Given the description of an element on the screen output the (x, y) to click on. 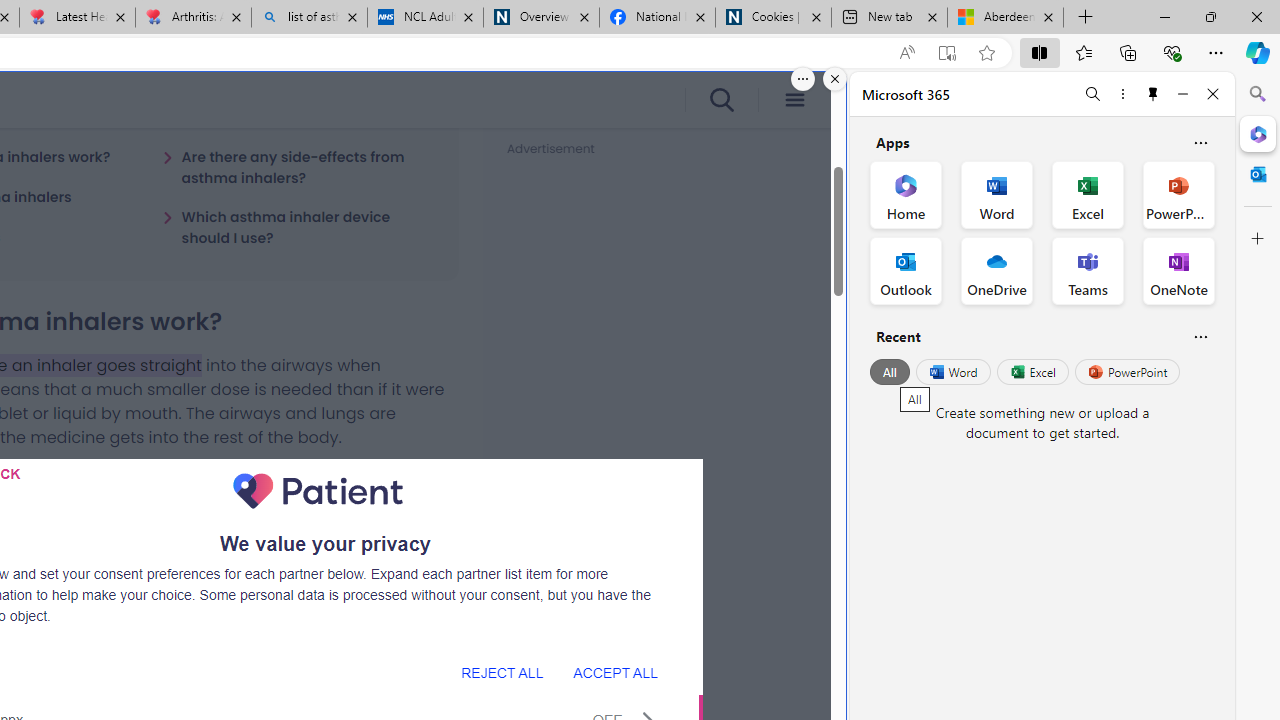
Home Office App (906, 194)
Publisher Logo (317, 491)
Enter Immersive Reader (F9) (946, 53)
Cookies | About | NICE (772, 17)
list of asthma inhalers uk - Search (309, 17)
Is this helpful? (1200, 336)
